Given the description of an element on the screen output the (x, y) to click on. 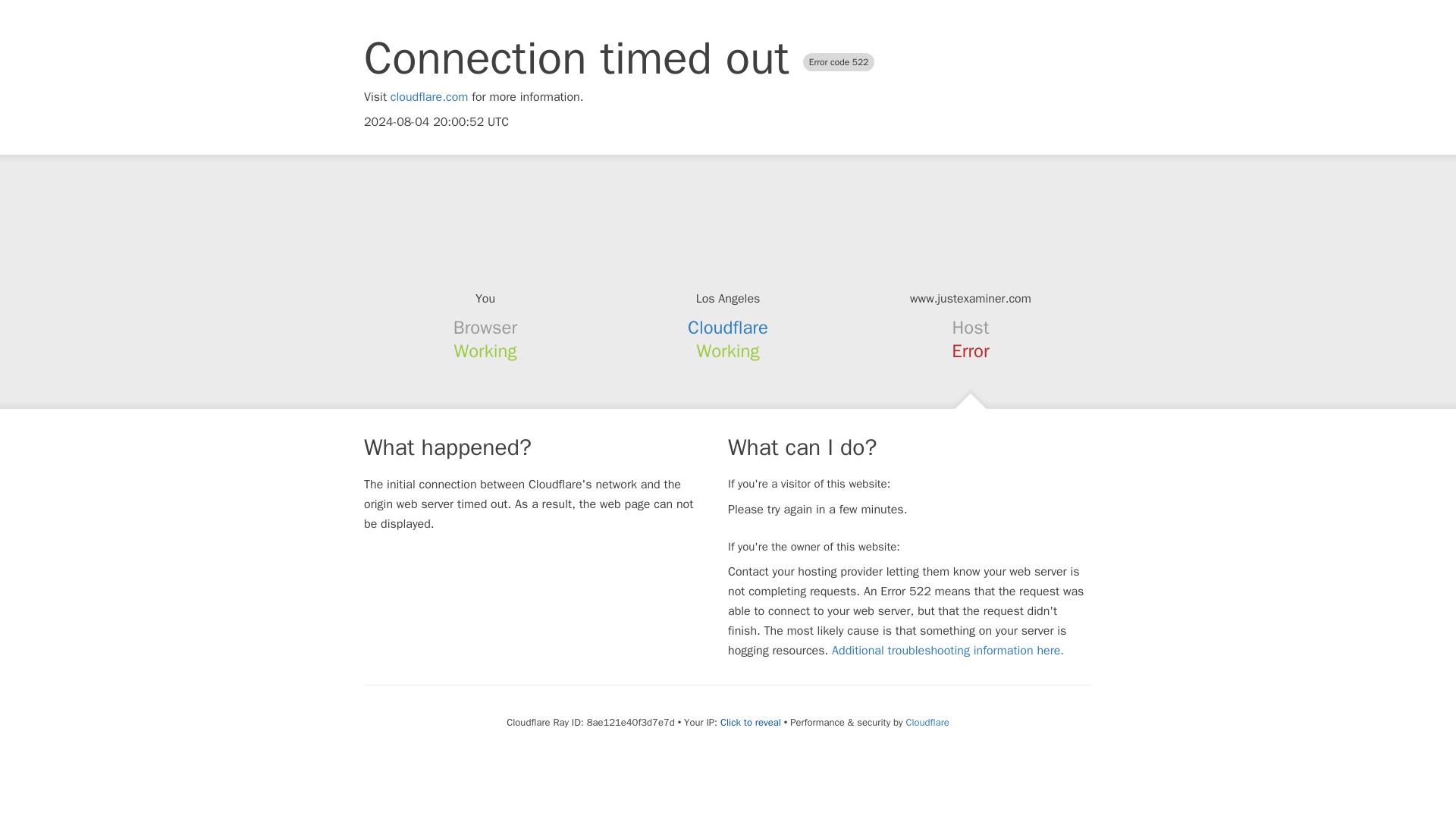
Cloudflare (927, 721)
Click to reveal (750, 722)
Additional troubleshooting information here. (947, 650)
cloudflare.com (429, 96)
Cloudflare (727, 327)
